Given the description of an element on the screen output the (x, y) to click on. 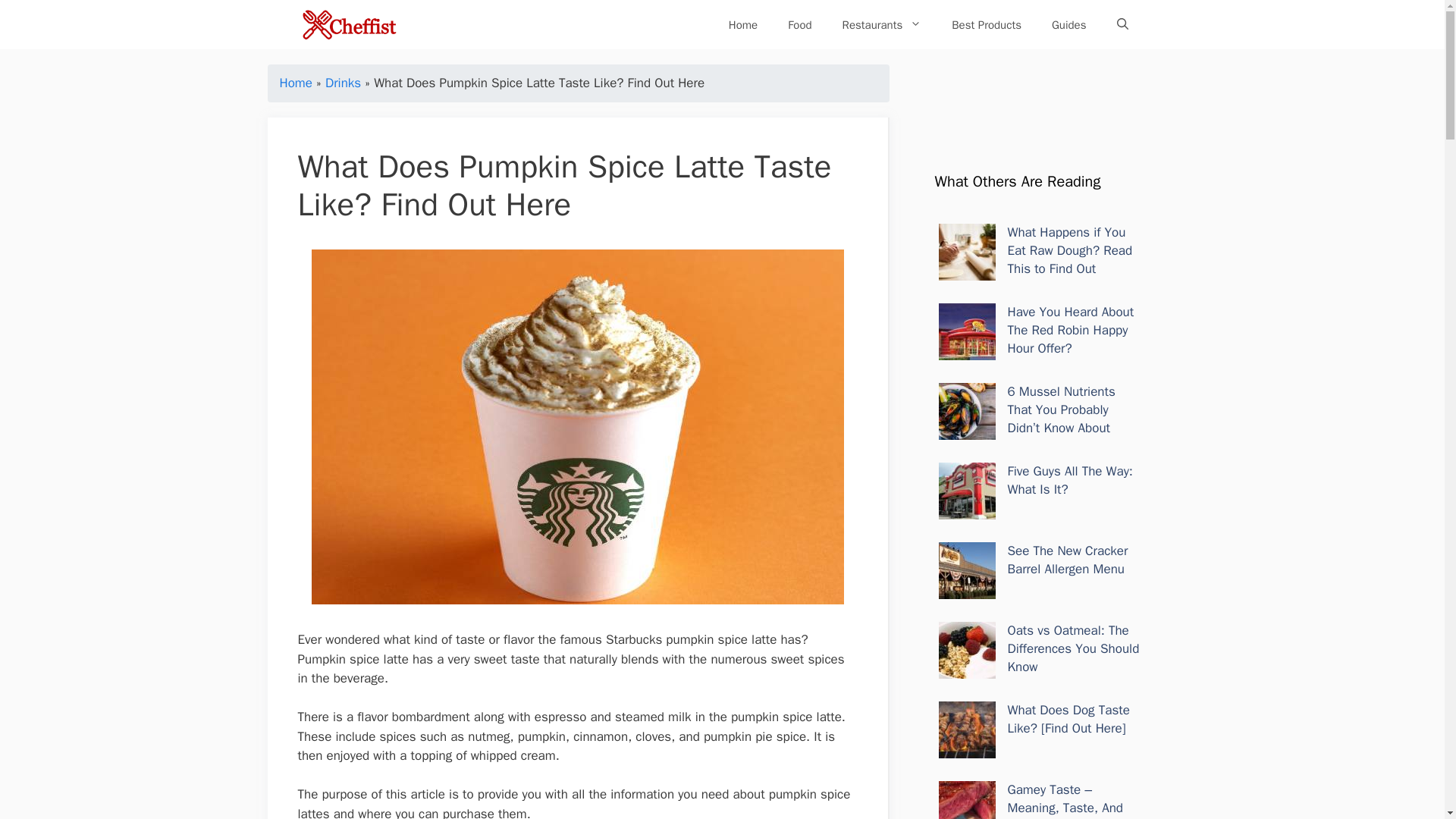
Best Products (986, 23)
Home (295, 82)
Guides (1069, 23)
Restaurants (882, 23)
Cheffist (349, 24)
Food (800, 23)
Drinks (342, 82)
Home (743, 23)
